Given the description of an element on the screen output the (x, y) to click on. 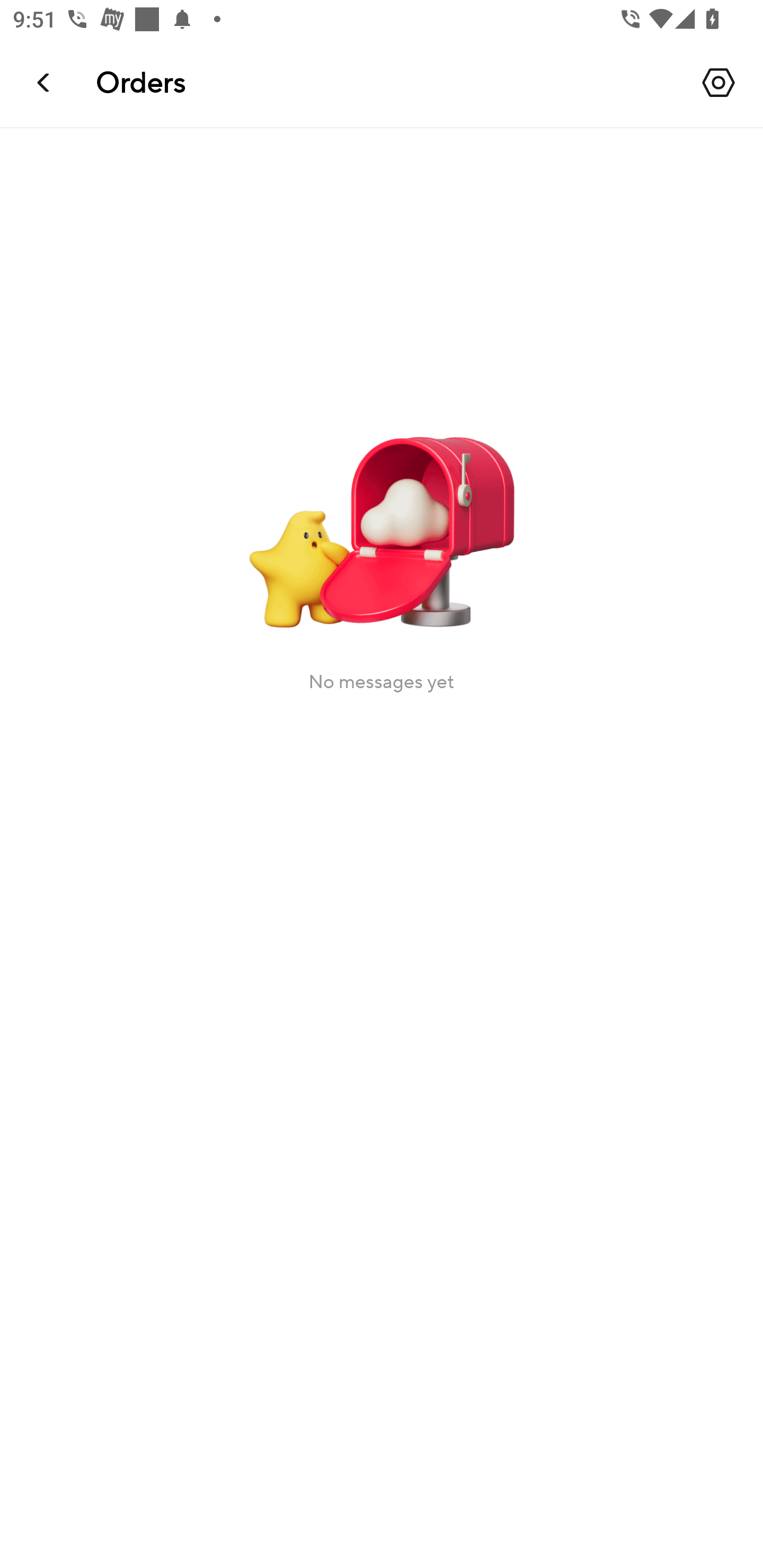
Navigate up (44, 82)
